Given the description of an element on the screen output the (x, y) to click on. 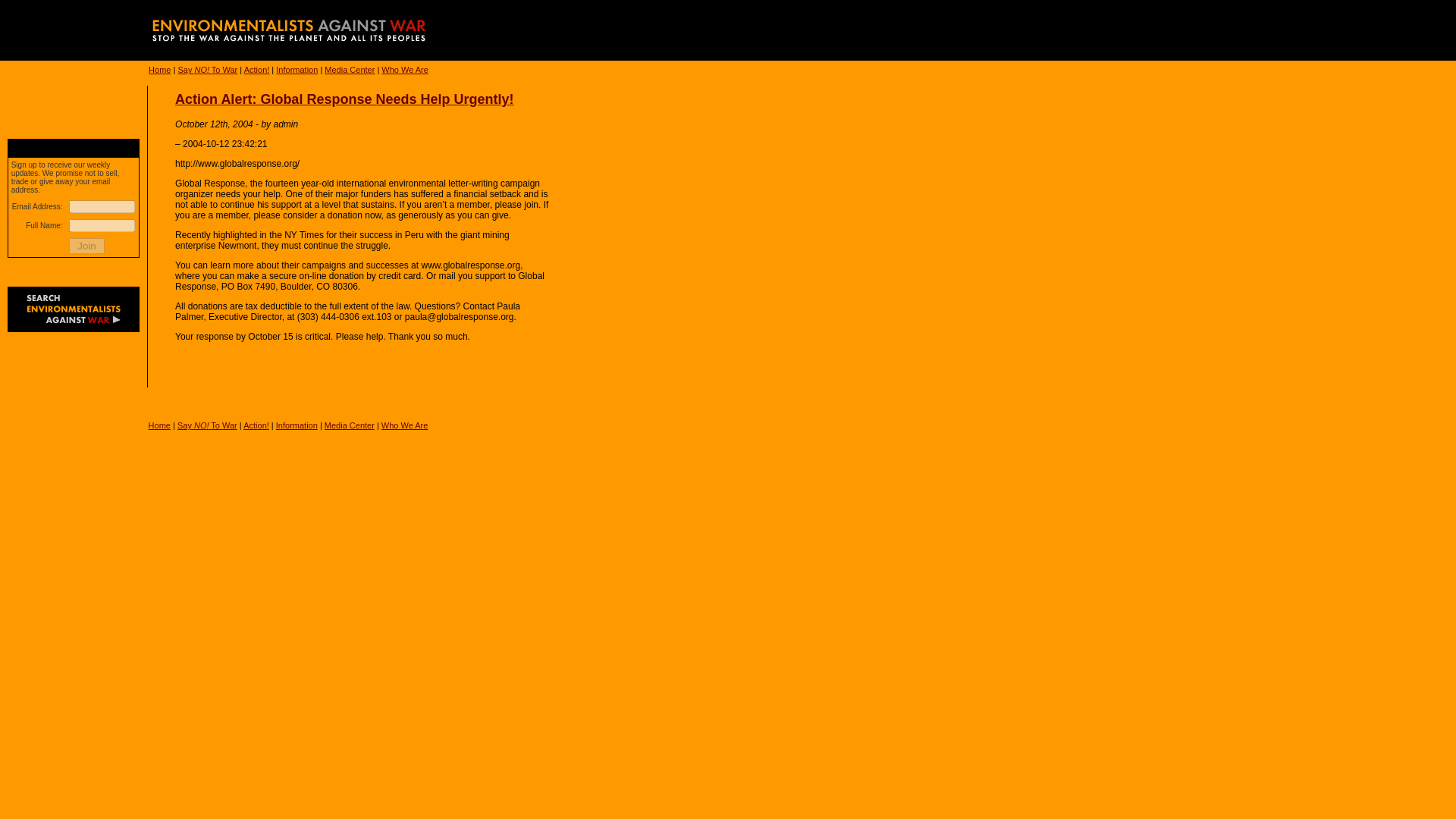
Information (296, 69)
Information (296, 424)
Action! (256, 69)
Action! (256, 424)
Action Alert: Global Response Needs Help Urgently! (343, 99)
Media Center (349, 69)
Say NO! To War (207, 424)
 Join  (86, 245)
Home (159, 69)
 Join  (86, 245)
